Given the description of an element on the screen output the (x, y) to click on. 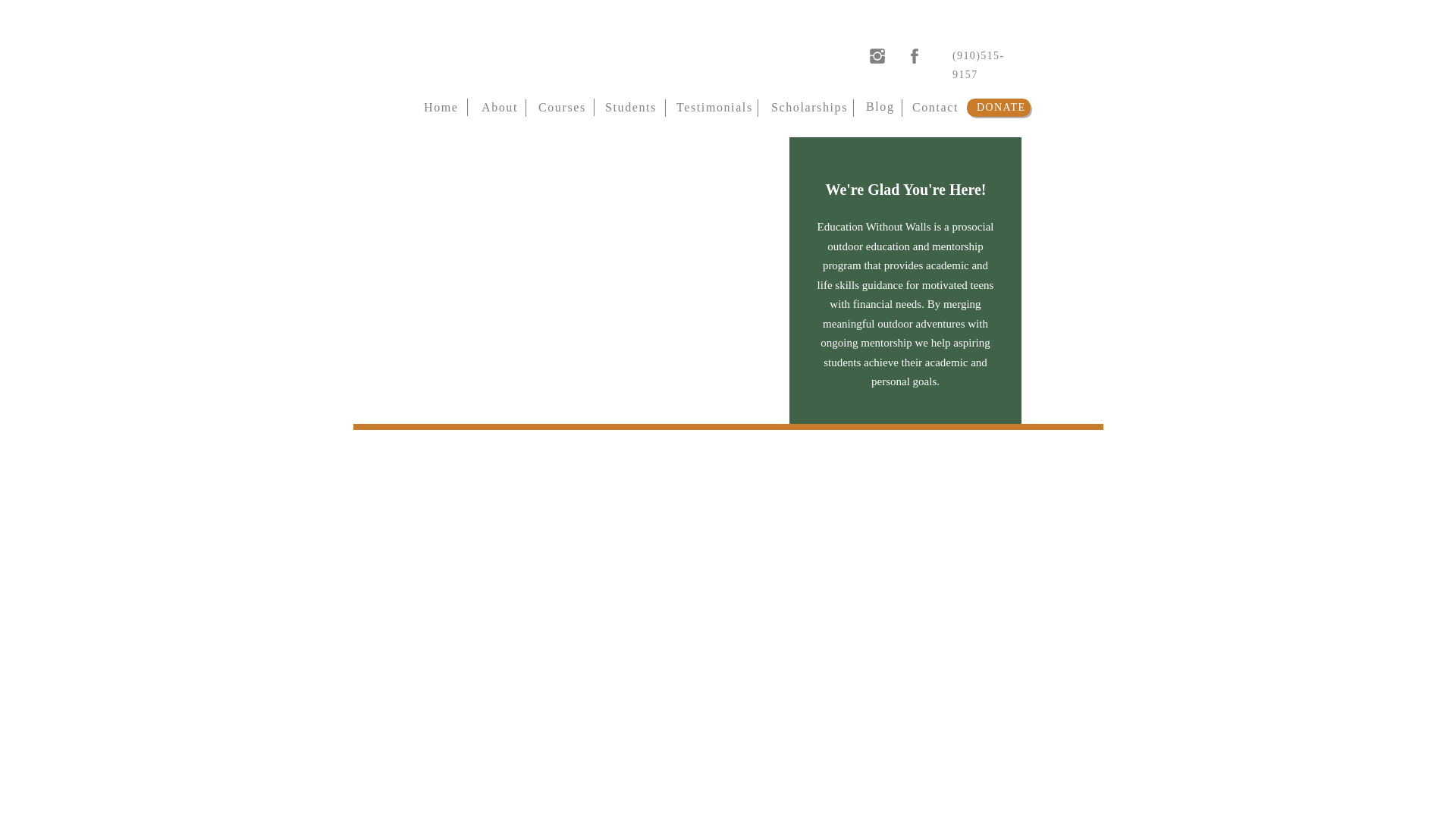
Contact (933, 106)
About (498, 106)
Courses (560, 106)
Blog (878, 105)
Testimonials (710, 106)
DONATE (1000, 106)
Scholarships (804, 106)
Students (628, 106)
Home (440, 106)
